Given the description of an element on the screen output the (x, y) to click on. 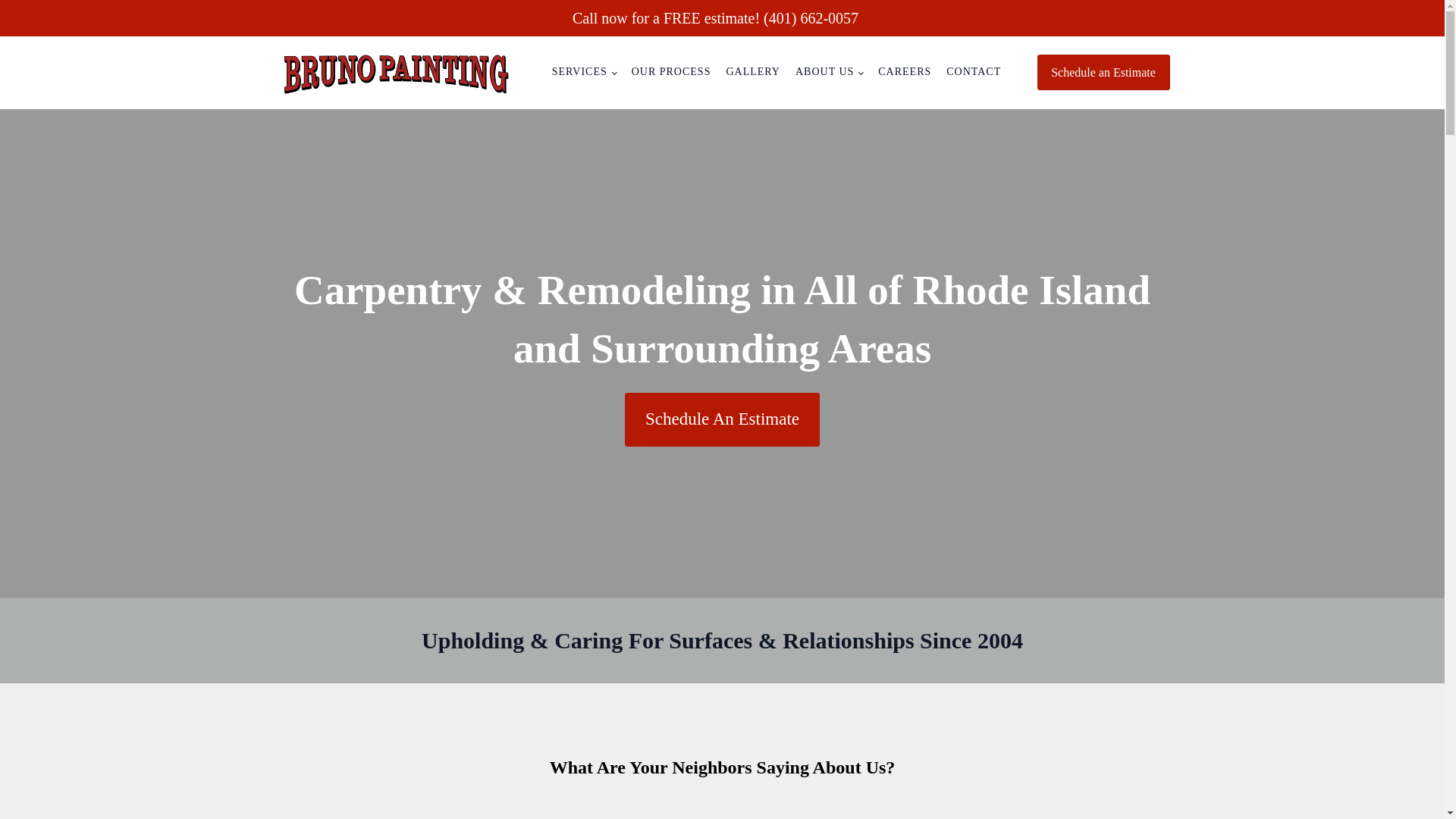
OUR PROCESS (671, 71)
Schedule An Estimate (721, 419)
CAREERS (904, 71)
SERVICES (584, 71)
Schedule an Estimate (1103, 72)
GALLERY (752, 71)
ABOUT US (828, 71)
CONTACT (974, 71)
